Given the description of an element on the screen output the (x, y) to click on. 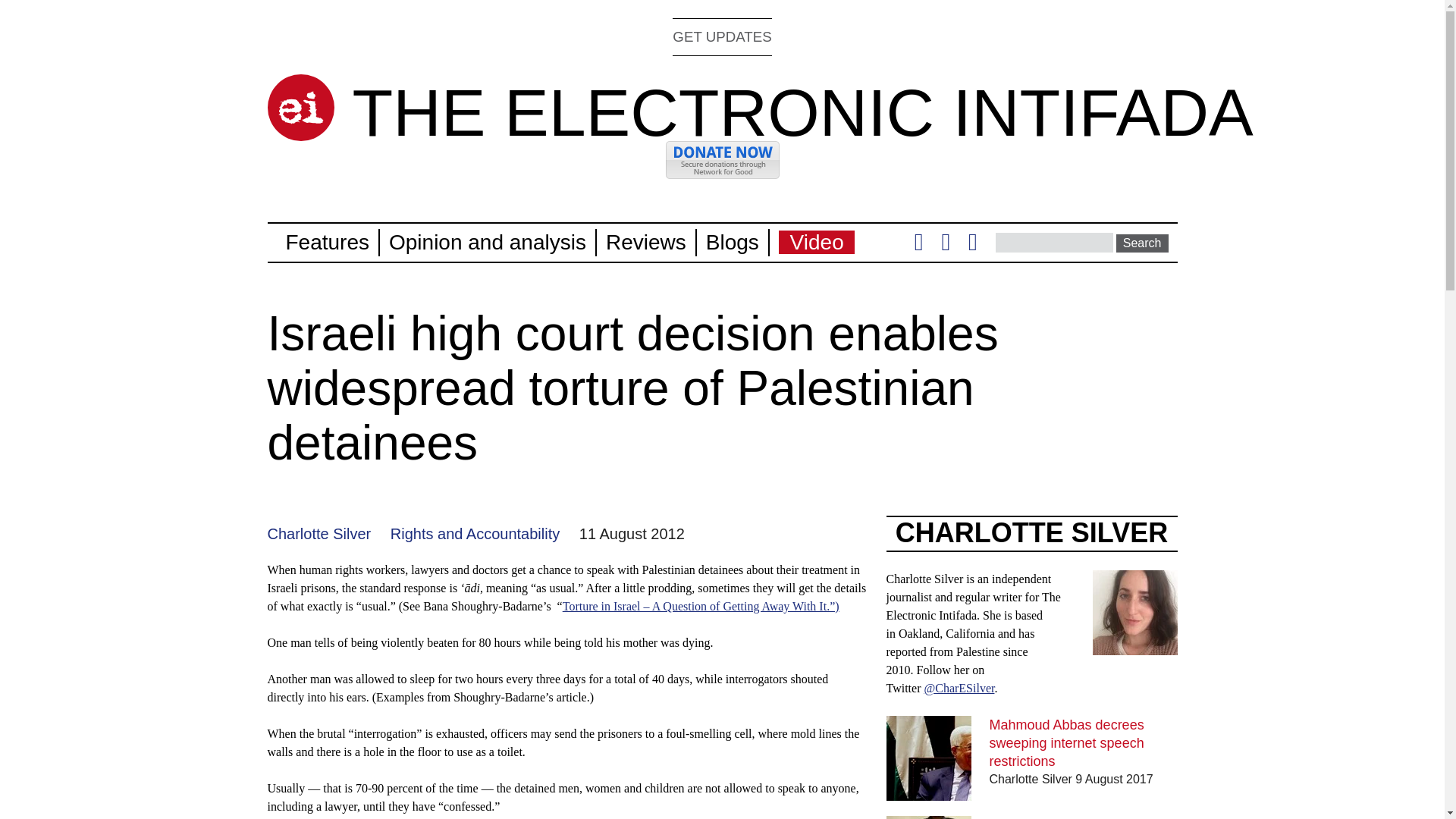
Rights and Accountability (474, 533)
Enter the terms you wish to search for. (1054, 242)
Search (1142, 243)
Charlotte Silver (318, 533)
Mahmoud Abbas decrees sweeping internet speech restrictions (1067, 743)
CHARLOTTE SILVER (1031, 531)
Home (802, 112)
Charlotte Silver's picture (1134, 612)
Home (299, 107)
Charlotte Silver's picture (1134, 645)
GET UPDATES (721, 37)
THE ELECTRONIC INTIFADA (802, 112)
